Given the description of an element on the screen output the (x, y) to click on. 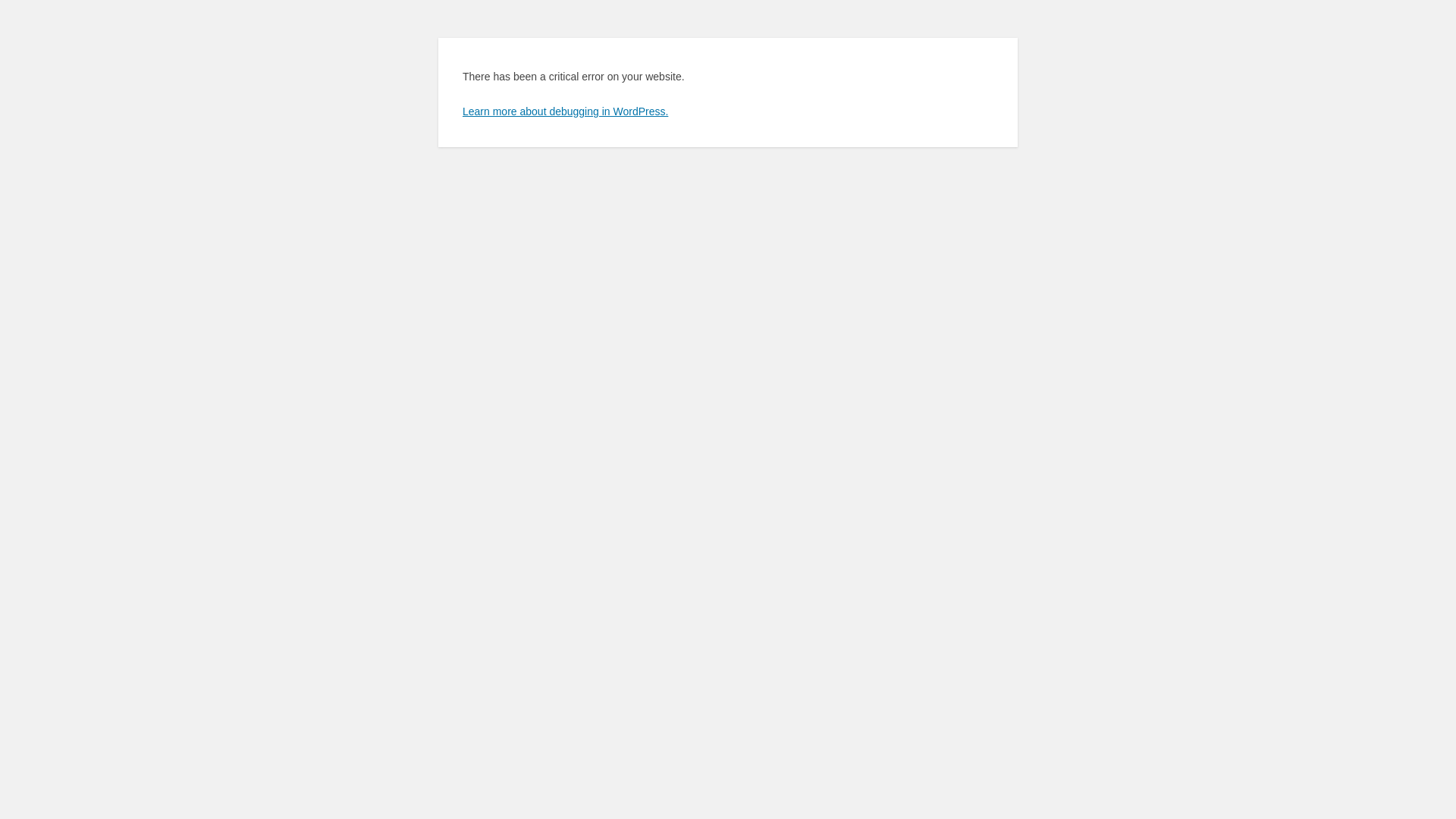
Learn more about debugging in WordPress. Element type: text (565, 111)
